Given the description of an element on the screen output the (x, y) to click on. 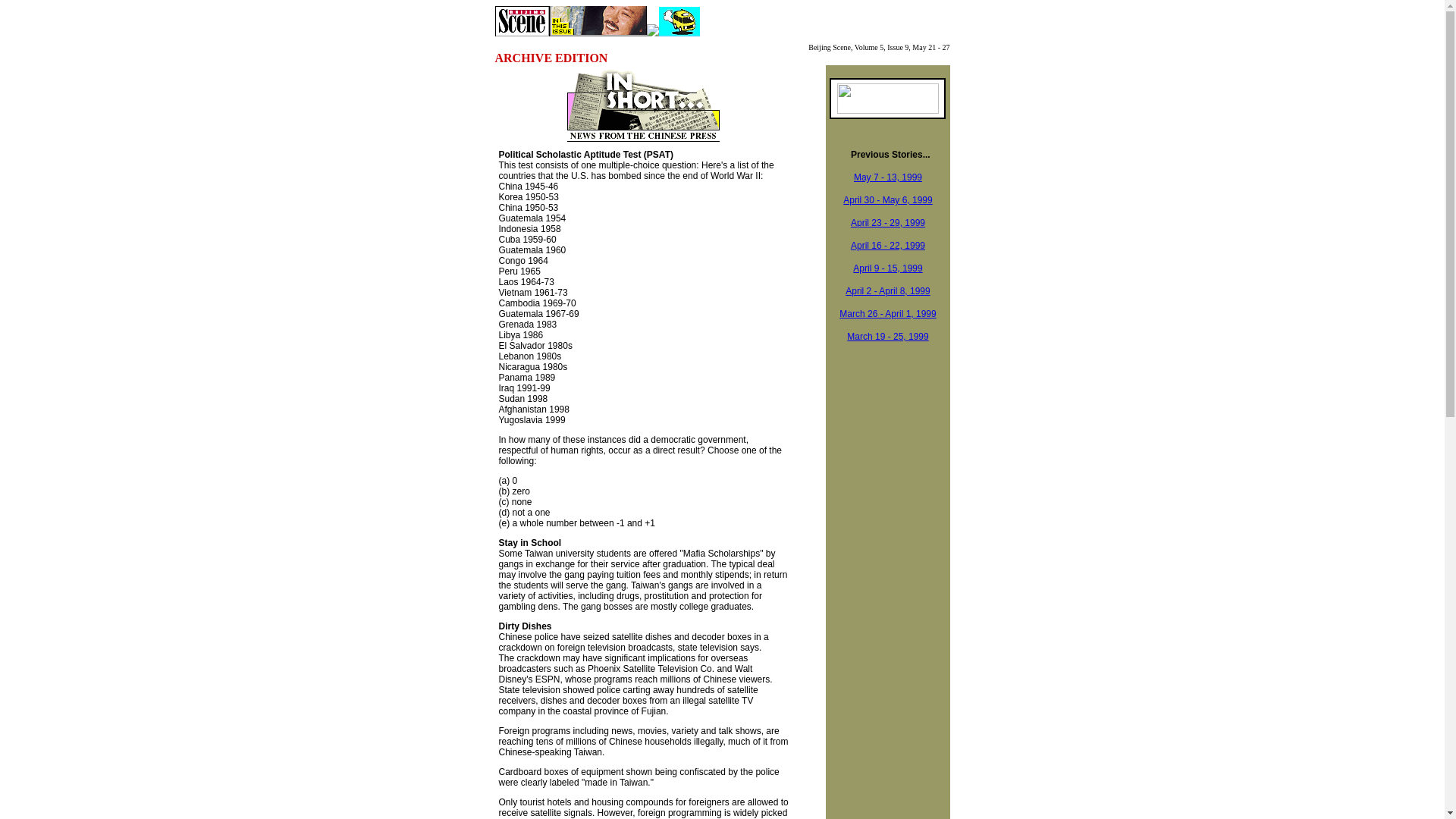
March 26 - April 1, 1999 (888, 313)
April 23 - 29, 1999 (887, 222)
March 19 - 25, 1999 (887, 336)
April 2 - April 8, 1999 (887, 290)
May 7 - 13, 1999 (887, 175)
April 16 - 22, 1999 (887, 244)
April 9 - 15, 1999 (887, 267)
April 30 - May 6, 1999 (887, 199)
